Given the description of an element on the screen output the (x, y) to click on. 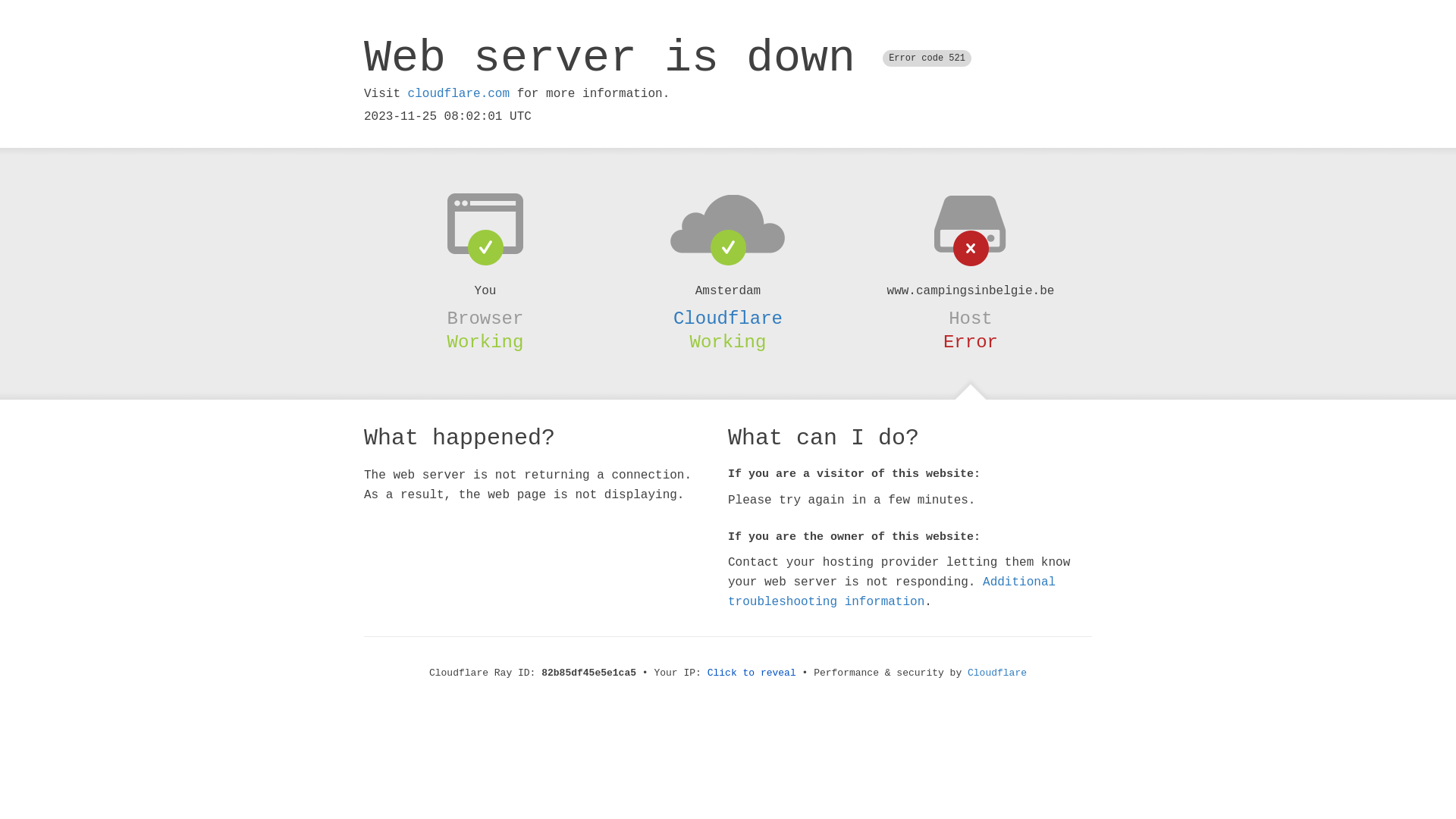
Cloudflare Element type: text (727, 318)
Cloudflare Element type: text (996, 672)
Additional troubleshooting information Element type: text (891, 591)
cloudflare.com Element type: text (458, 93)
Click to reveal Element type: text (751, 672)
